Given the description of an element on the screen output the (x, y) to click on. 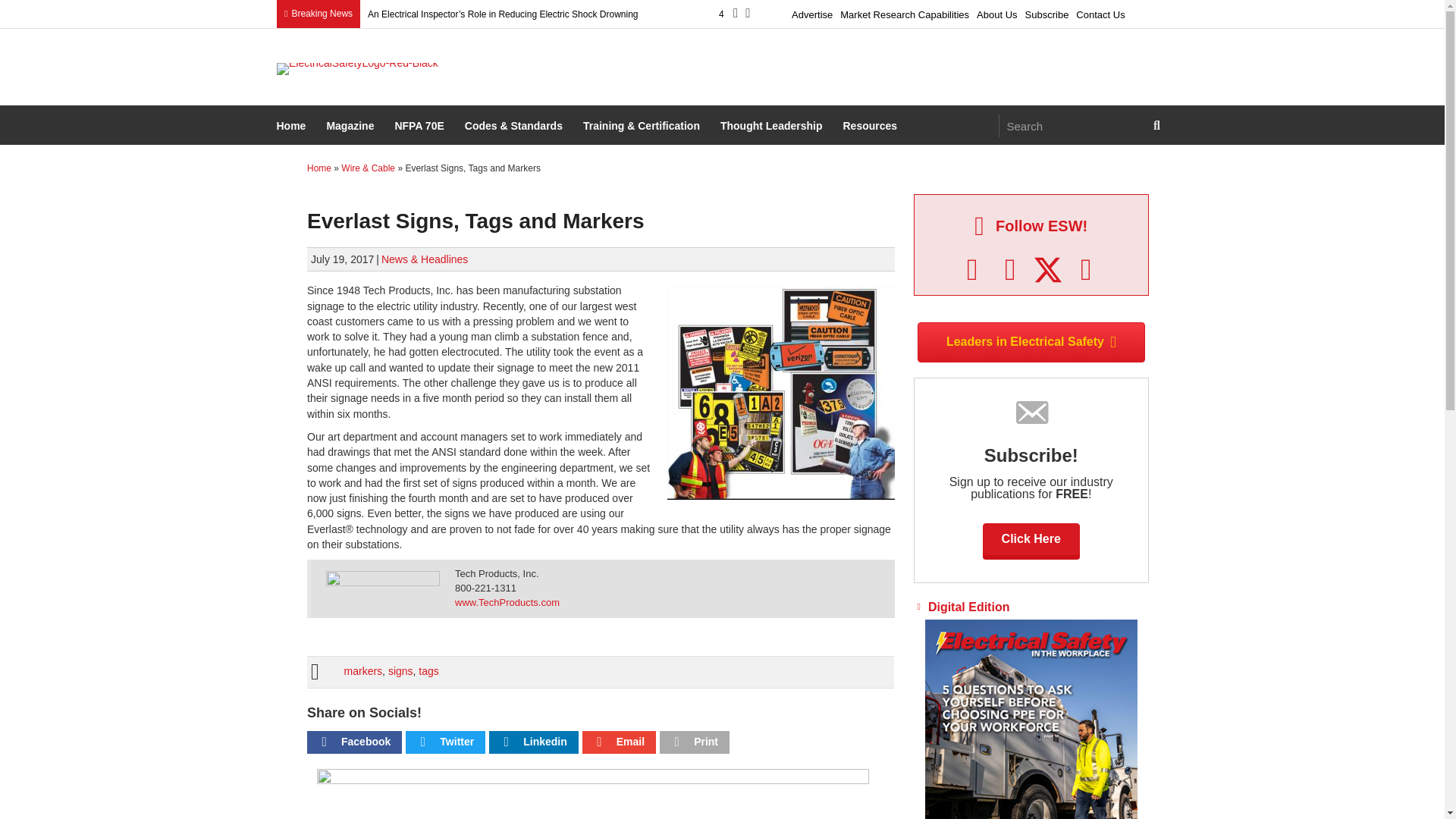
NFPA 70E (420, 126)
Magazine (351, 126)
Contact Us (1099, 11)
ElectricalSafetyLogo-Red-Black (357, 69)
LinkedIn (1009, 270)
Advertise (811, 11)
YouTube (1085, 270)
Market Research Capabilities (903, 11)
Facebook (972, 270)
